Given the description of an element on the screen output the (x, y) to click on. 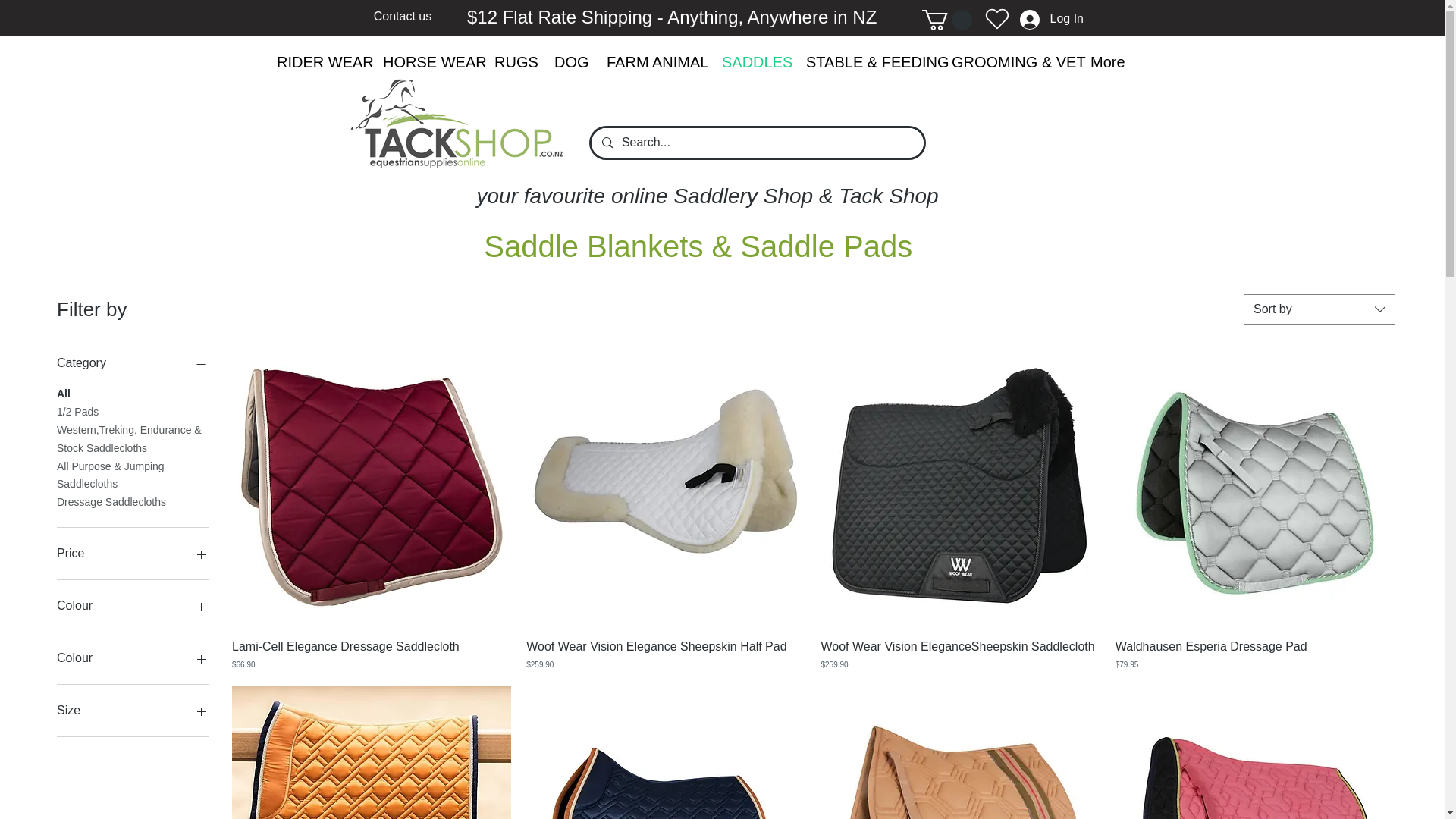
Contact us (402, 15)
RIDER WEAR (317, 62)
RUGS (513, 62)
Log In (1051, 18)
HORSE WEAR (427, 62)
